Given the description of an element on the screen output the (x, y) to click on. 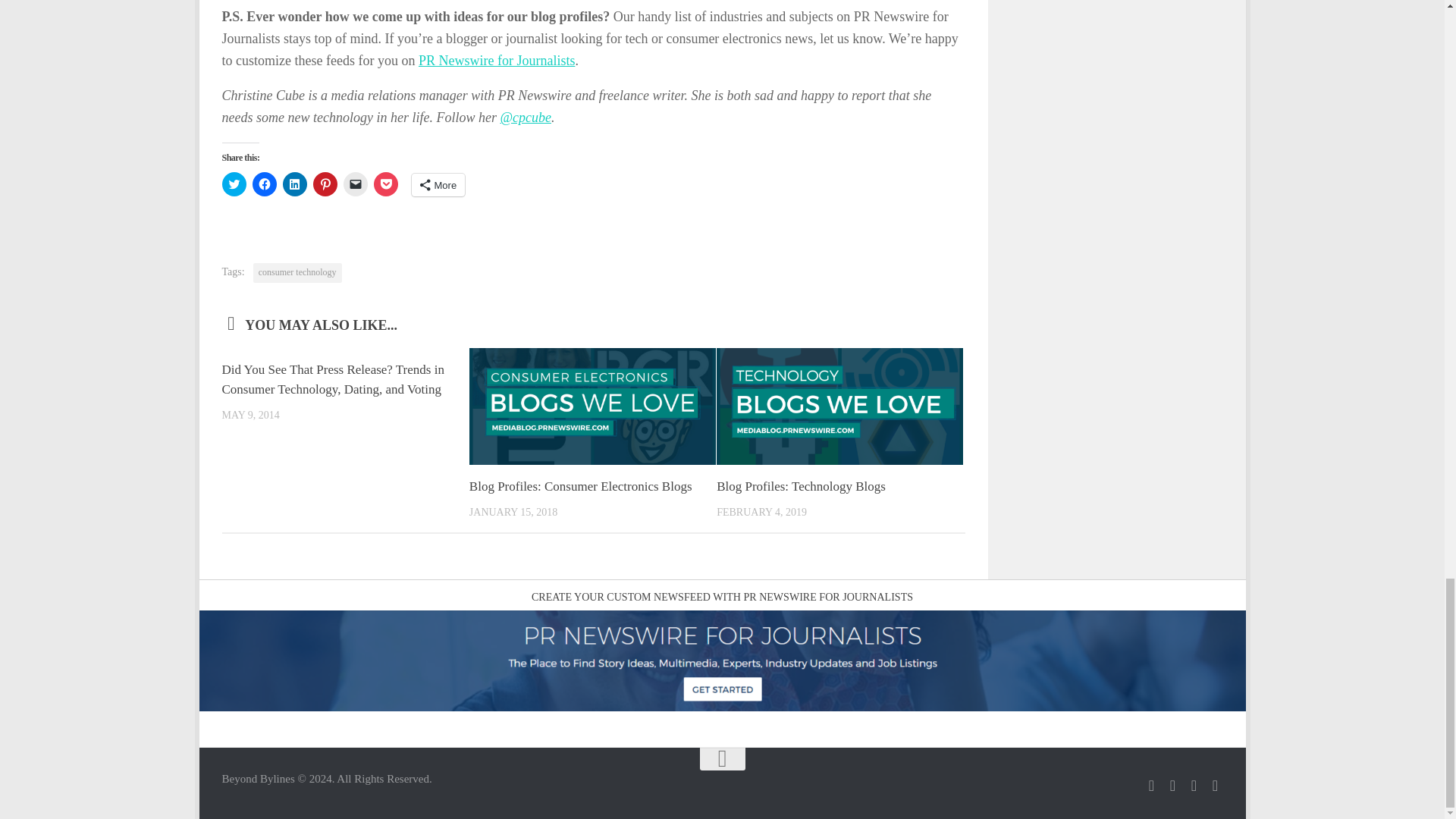
Follow us on Twitter (1150, 785)
Click to email a link to a friend (354, 183)
Click to share on Facebook (263, 183)
Click to share on Pocket (384, 183)
Click to share on LinkedIn (293, 183)
Click to share on Twitter (233, 183)
Click to share on Pinterest (324, 183)
